Given the description of an element on the screen output the (x, y) to click on. 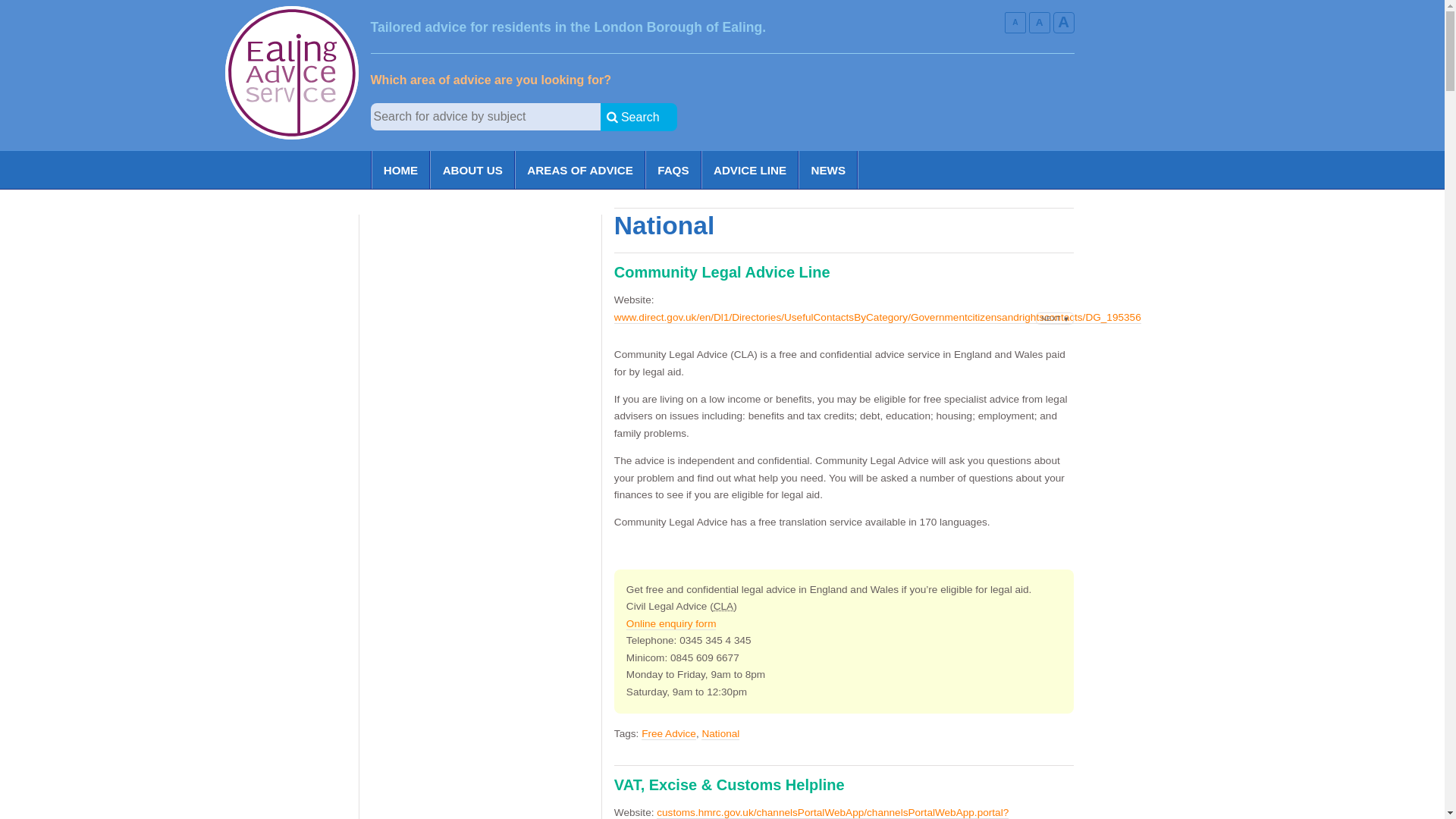
HOME (400, 169)
Advice Link (255, 144)
AREAS OF ADVICE (580, 169)
ADVICE LINE (750, 169)
Advice Link (255, 144)
A (1039, 22)
National (720, 734)
Community Legal Advice (723, 605)
Free Advice (668, 734)
FAQS (673, 169)
ABOUT US (472, 169)
A (1015, 22)
Search (638, 117)
NEXT (1054, 318)
NEWS (827, 169)
